Given the description of an element on the screen output the (x, y) to click on. 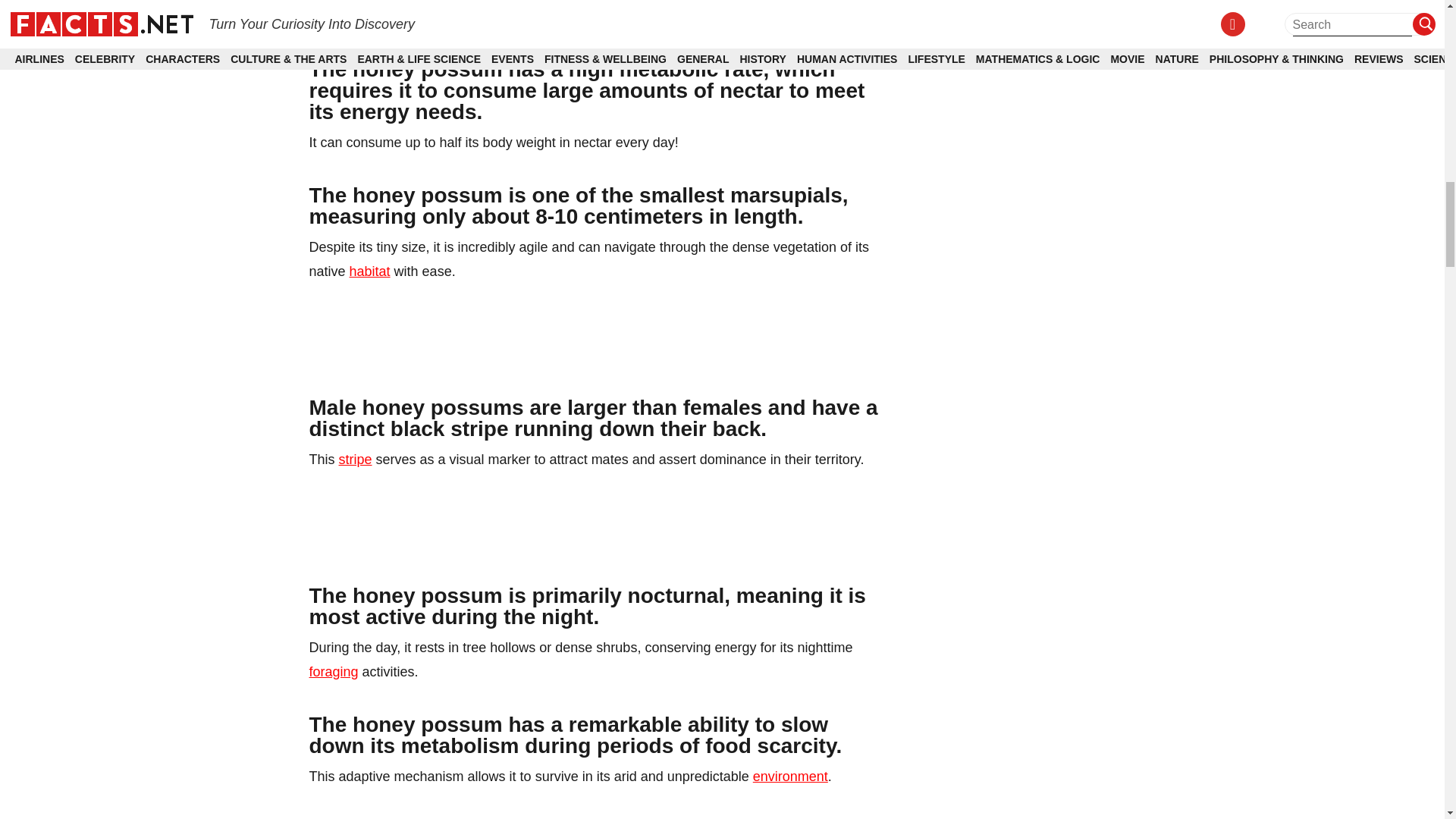
stripe (355, 459)
environment (790, 776)
foraging (333, 671)
habitat (369, 271)
